Given the description of an element on the screen output the (x, y) to click on. 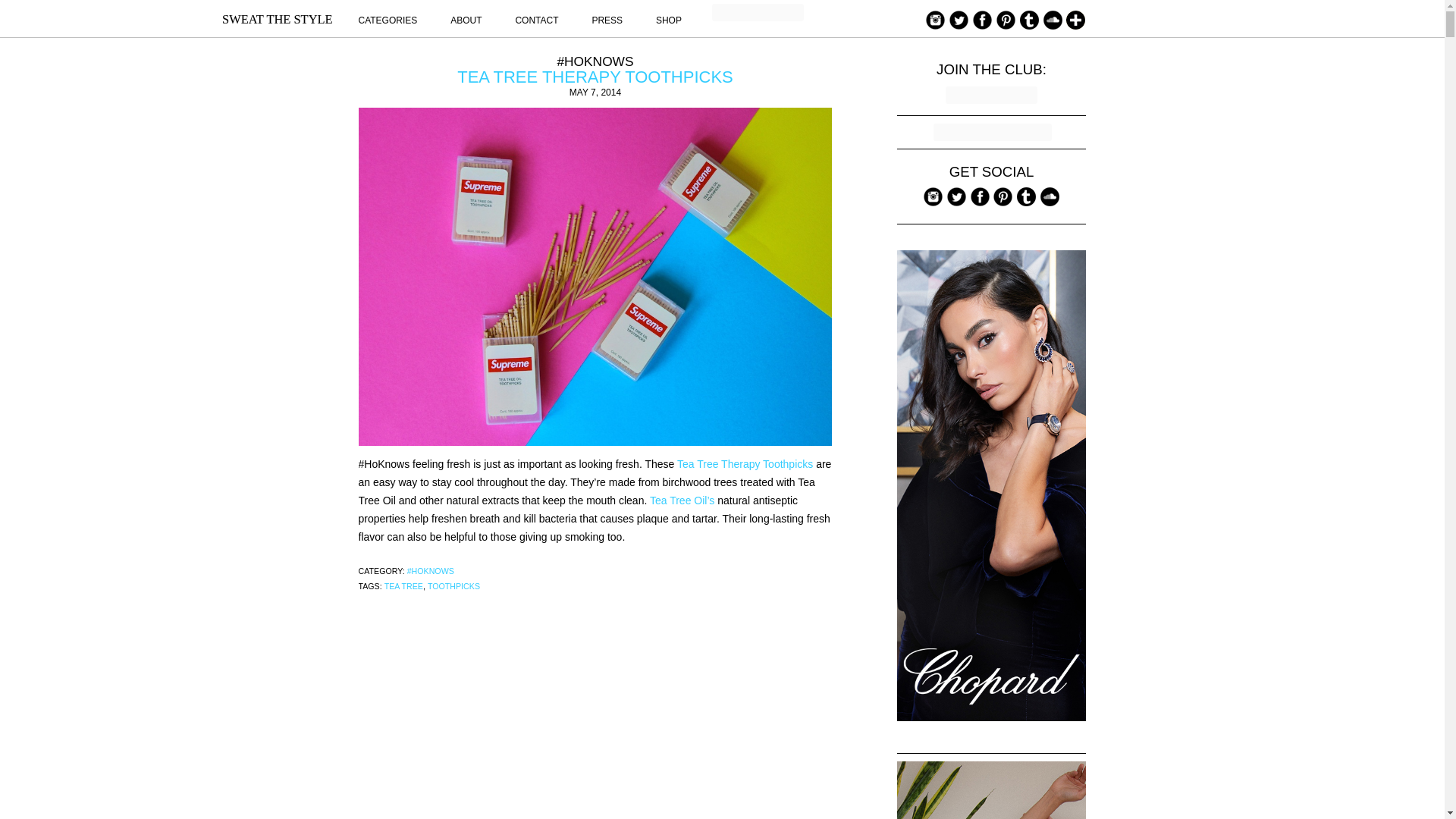
CATEGORIES (387, 20)
PRESS (607, 20)
Skip to content (895, 9)
ABOUT (465, 20)
Skip to content (895, 9)
CONTACT (536, 20)
1:49 pm (595, 91)
